Given the description of an element on the screen output the (x, y) to click on. 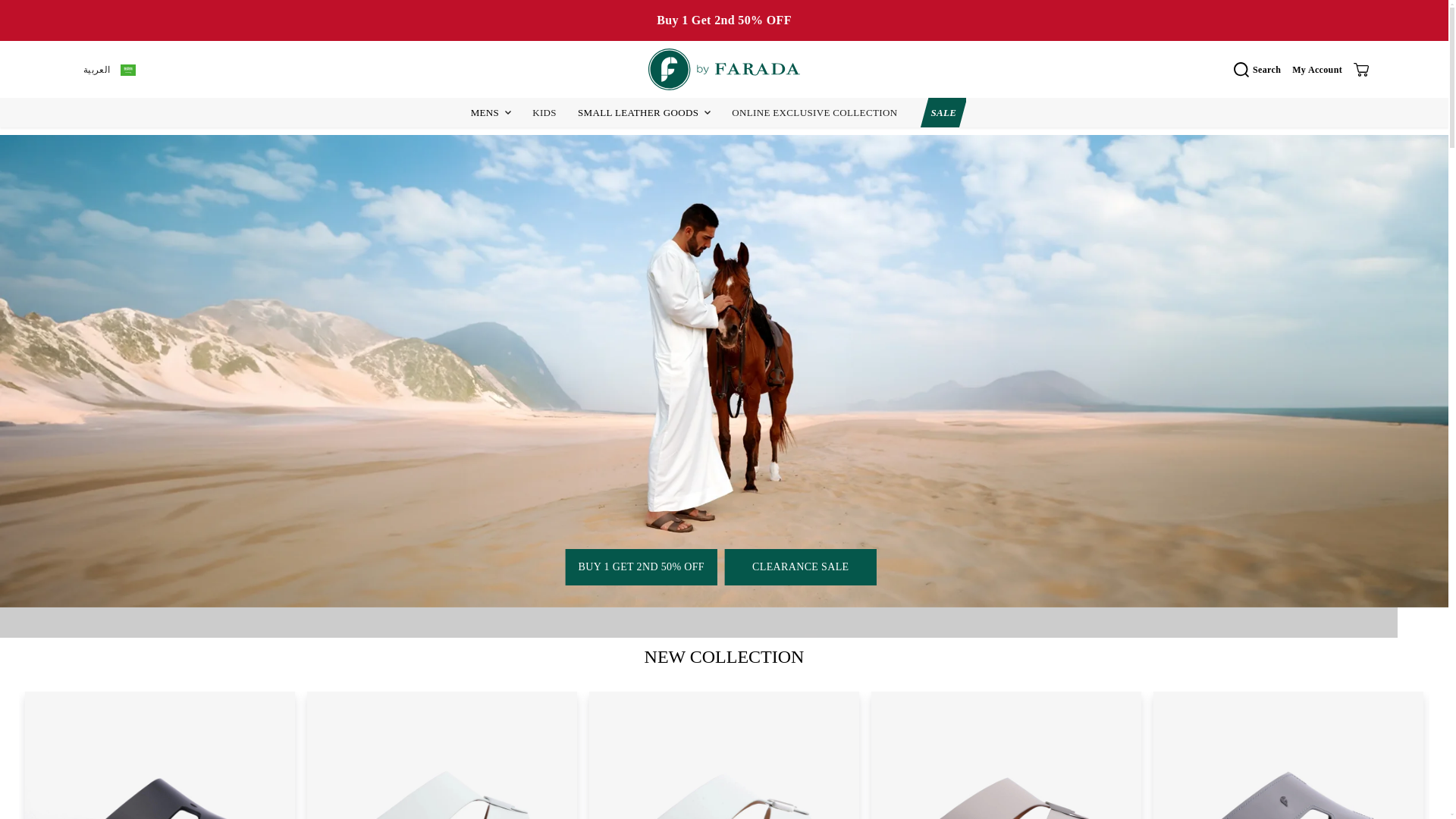
SKIP TO CONTENT (60, 18)
MENS (484, 112)
Cart (1361, 69)
Search (1262, 69)
Log in (1317, 69)
My Account (1317, 69)
Search (1262, 69)
